Given the description of an element on the screen output the (x, y) to click on. 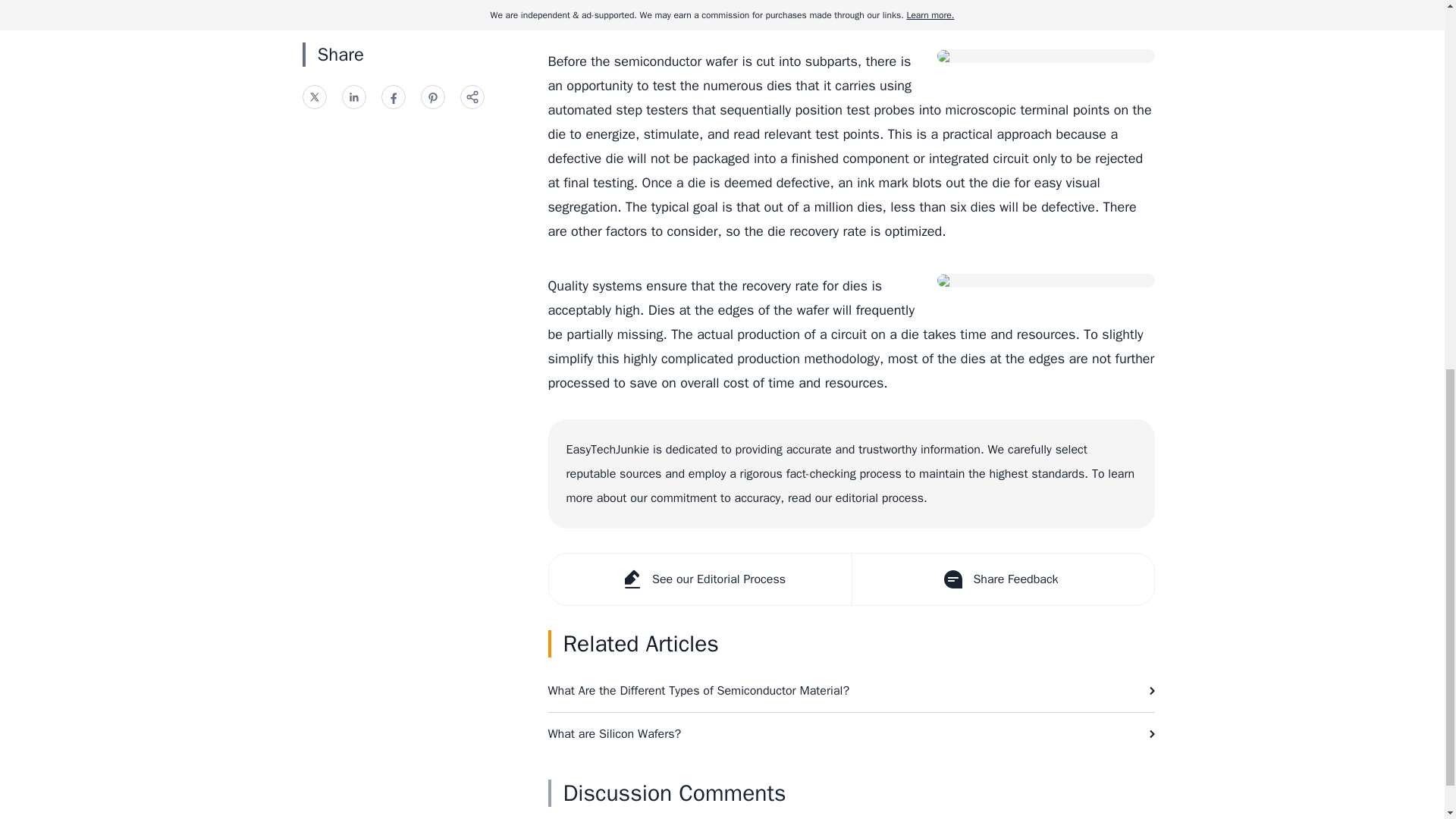
What Are the Different Types of Semiconductor Material? (850, 690)
What are Silicon Wafers? (850, 733)
See our Editorial Process (699, 579)
Share Feedback (1001, 579)
